Given the description of an element on the screen output the (x, y) to click on. 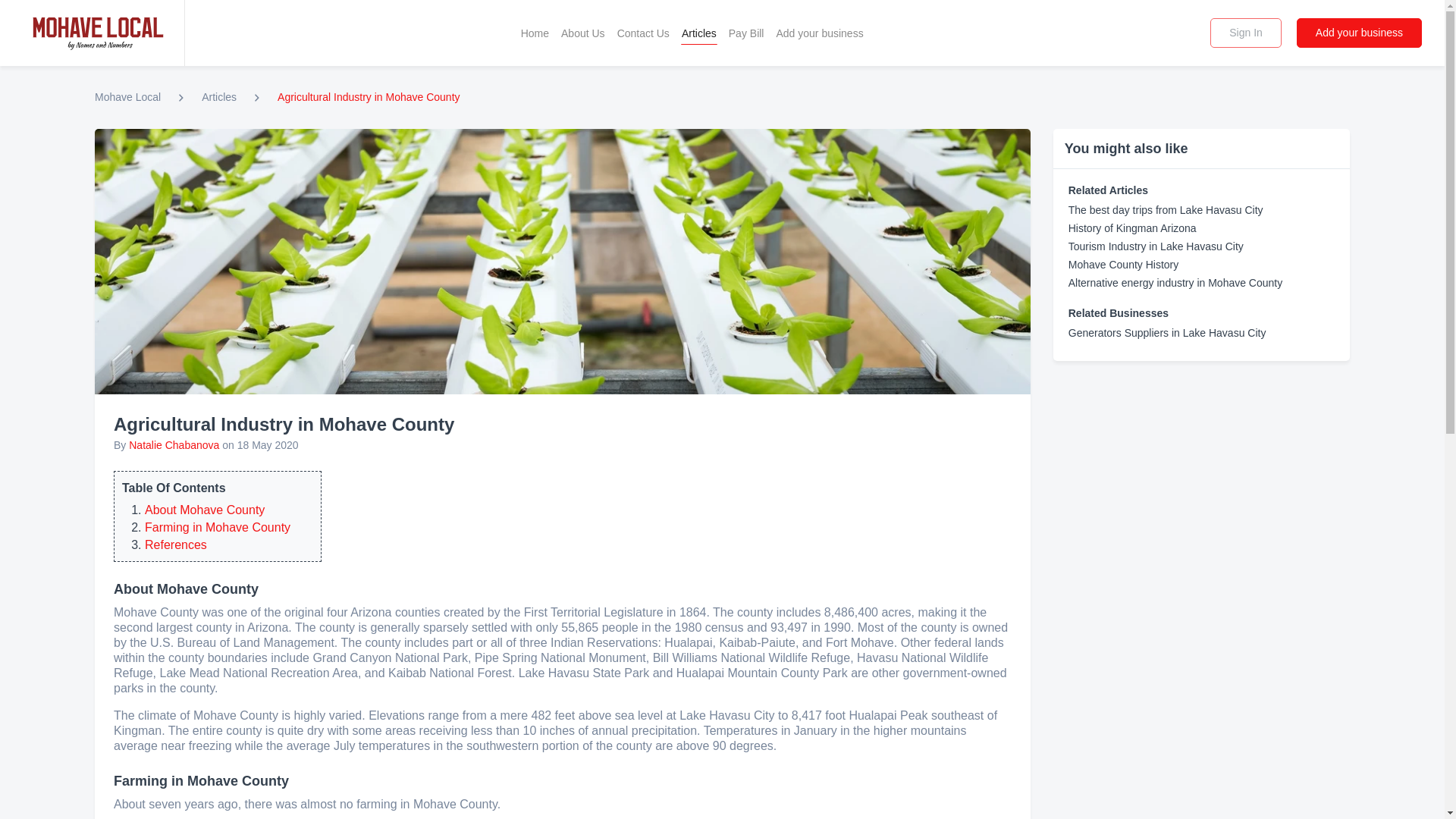
Tourism Industry in Lake Havasu City (1155, 246)
Mohave County History (1123, 264)
Articles (698, 32)
Sign In (1245, 32)
Pay Bill (746, 32)
Generators Suppliers in Lake Havasu City (1167, 332)
About Us (582, 32)
References (175, 544)
Natalie Chabanova (174, 444)
Add your business (1359, 32)
